Given the description of an element on the screen output the (x, y) to click on. 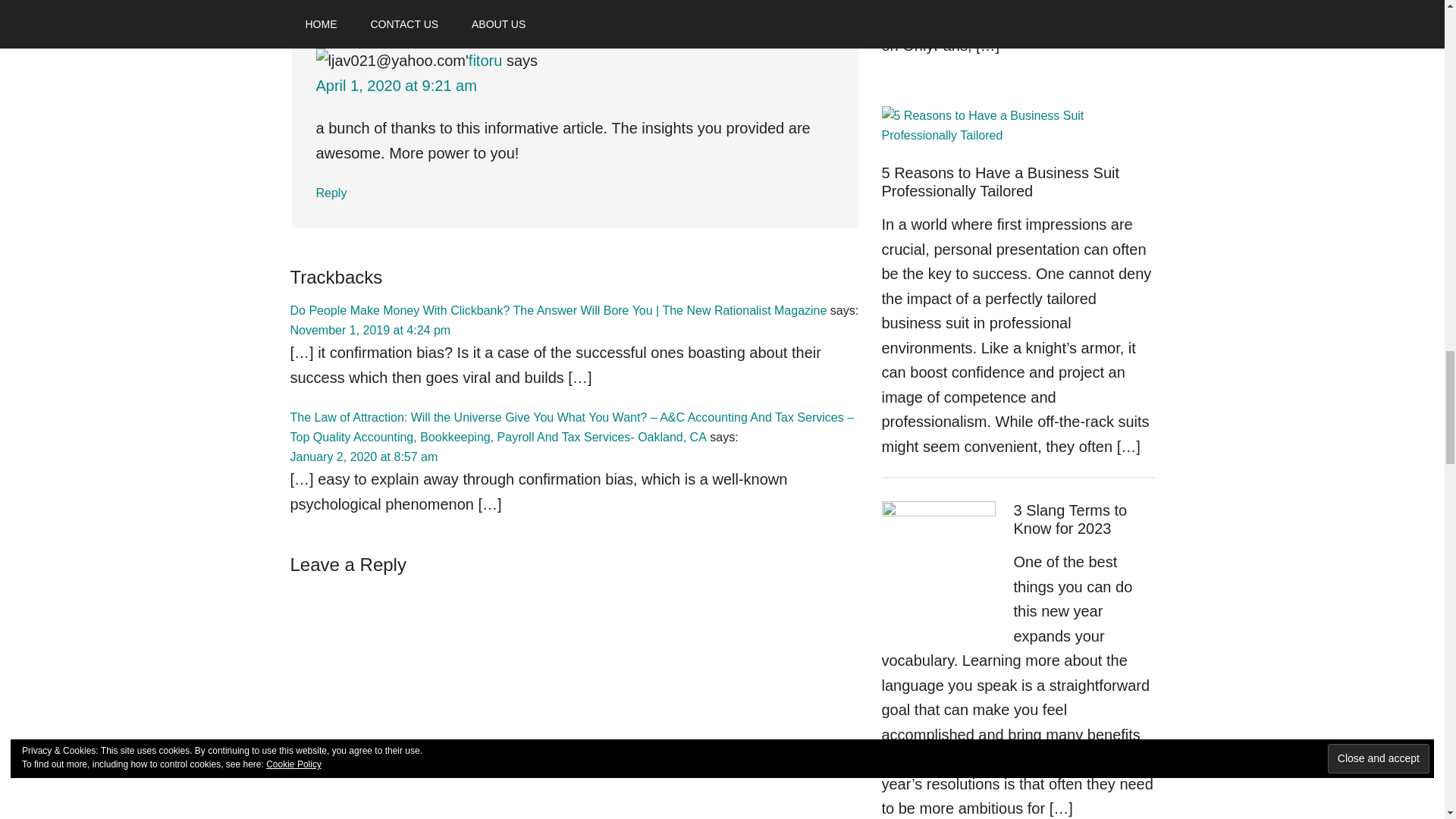
Reply (330, 192)
April 1, 2020 at 9:21 am (395, 85)
fitoru (485, 60)
Comment Form (574, 703)
November 1, 2019 at 4:24 pm (369, 329)
January 2, 2020 at 8:57 am (363, 456)
